Given the description of an element on the screen output the (x, y) to click on. 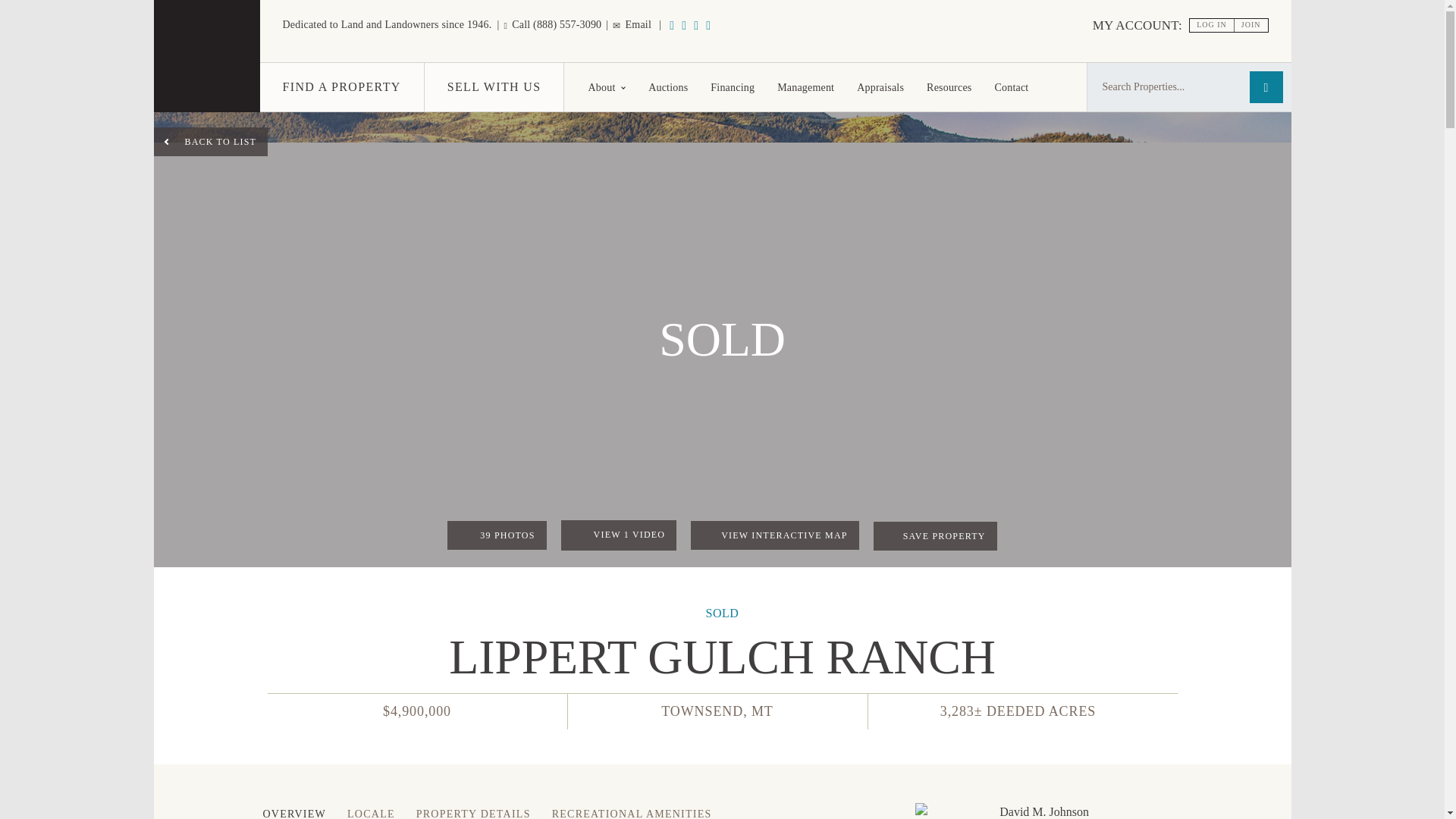
Resources (948, 86)
Financing (731, 86)
JOIN (1251, 24)
SELL WITH US (494, 87)
FIND A PROPERTY (341, 87)
LOG IN (1211, 24)
Search (1265, 87)
Hall and Hall (205, 87)
Appraisals (880, 86)
Hall and Hall - Ranches for Sale (205, 56)
